Given the description of an element on the screen output the (x, y) to click on. 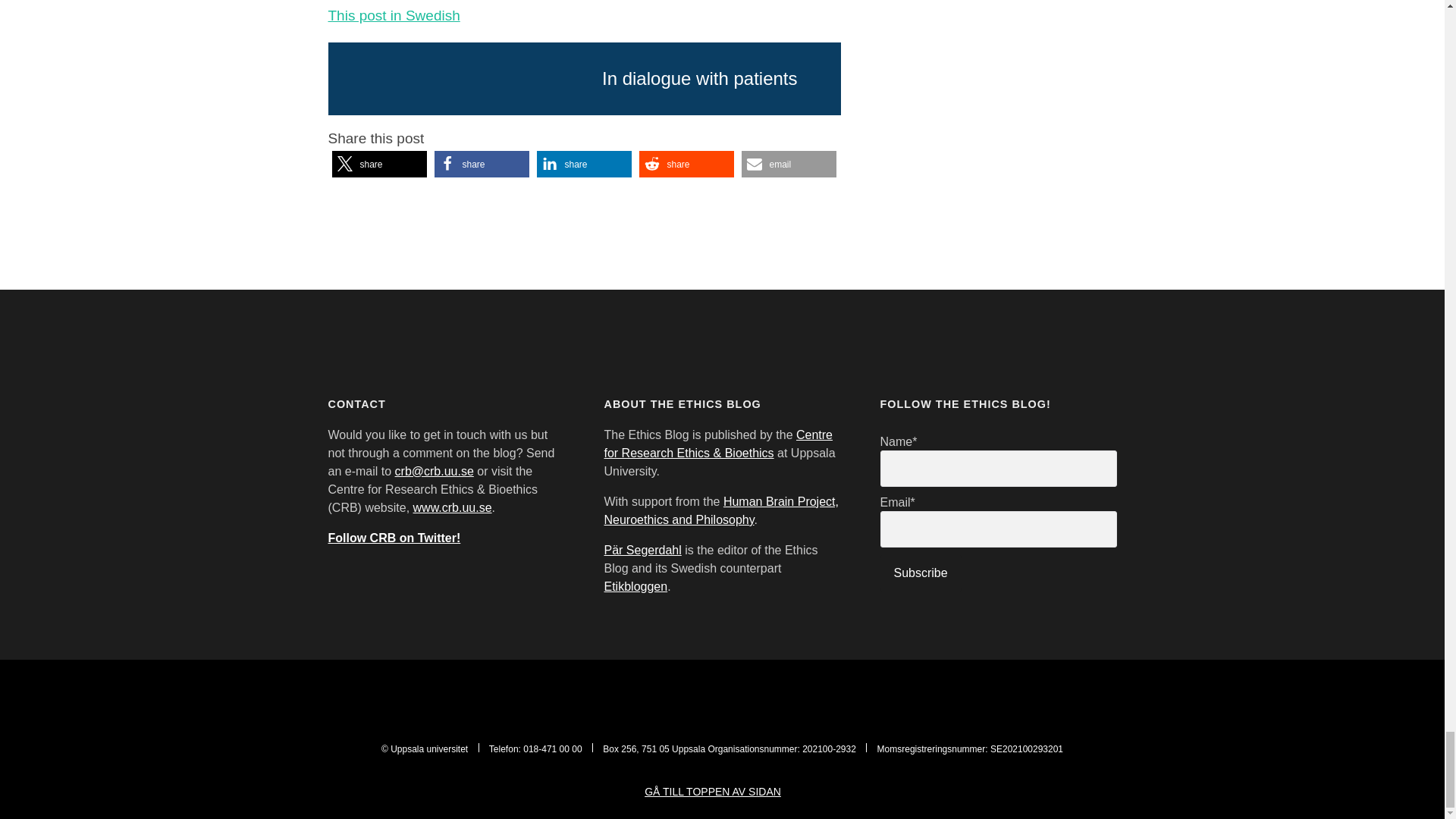
Subscribe (919, 573)
